Given the description of an element on the screen output the (x, y) to click on. 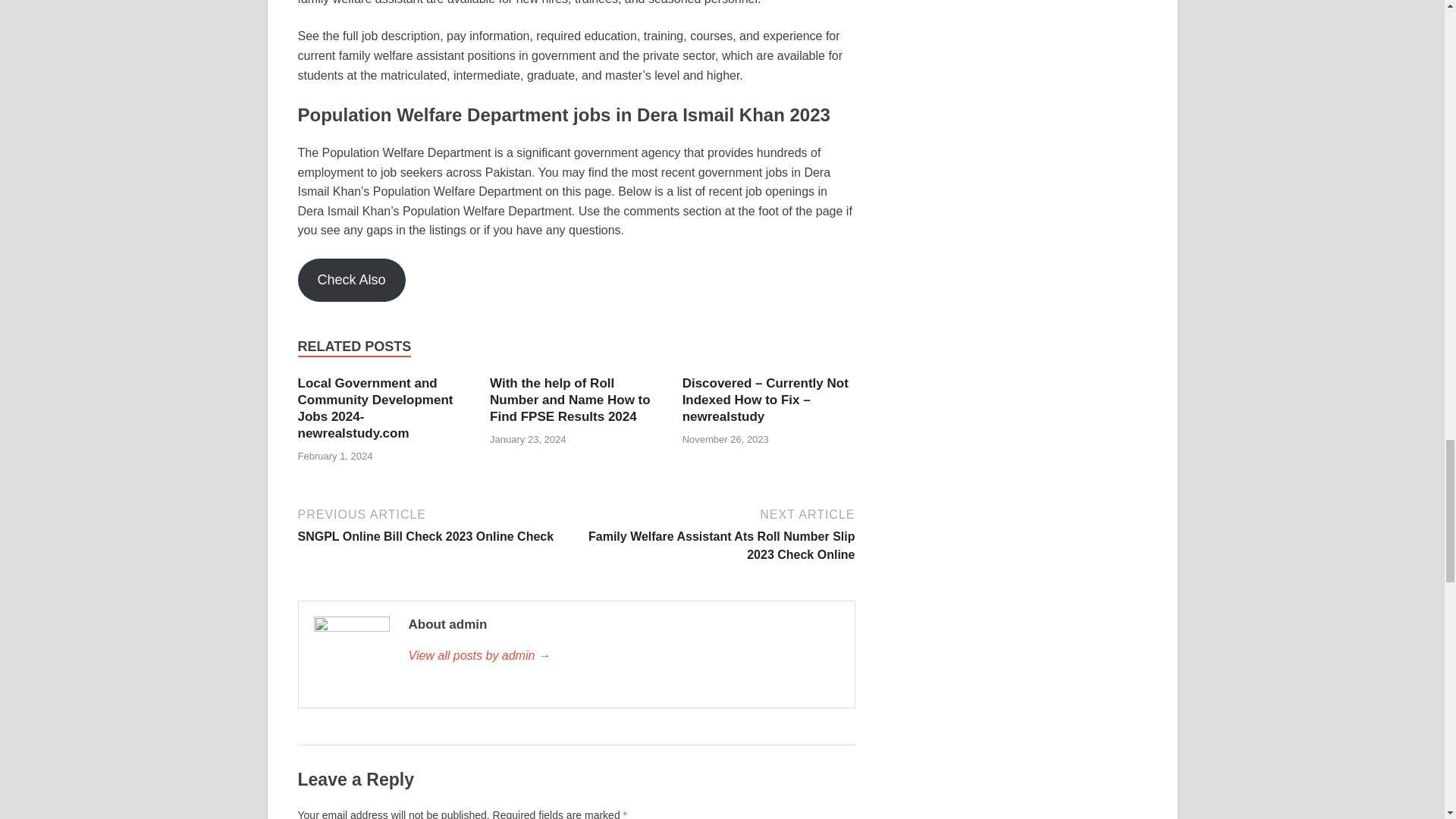
Check Also (434, 524)
admin (350, 280)
